Given the description of an element on the screen output the (x, y) to click on. 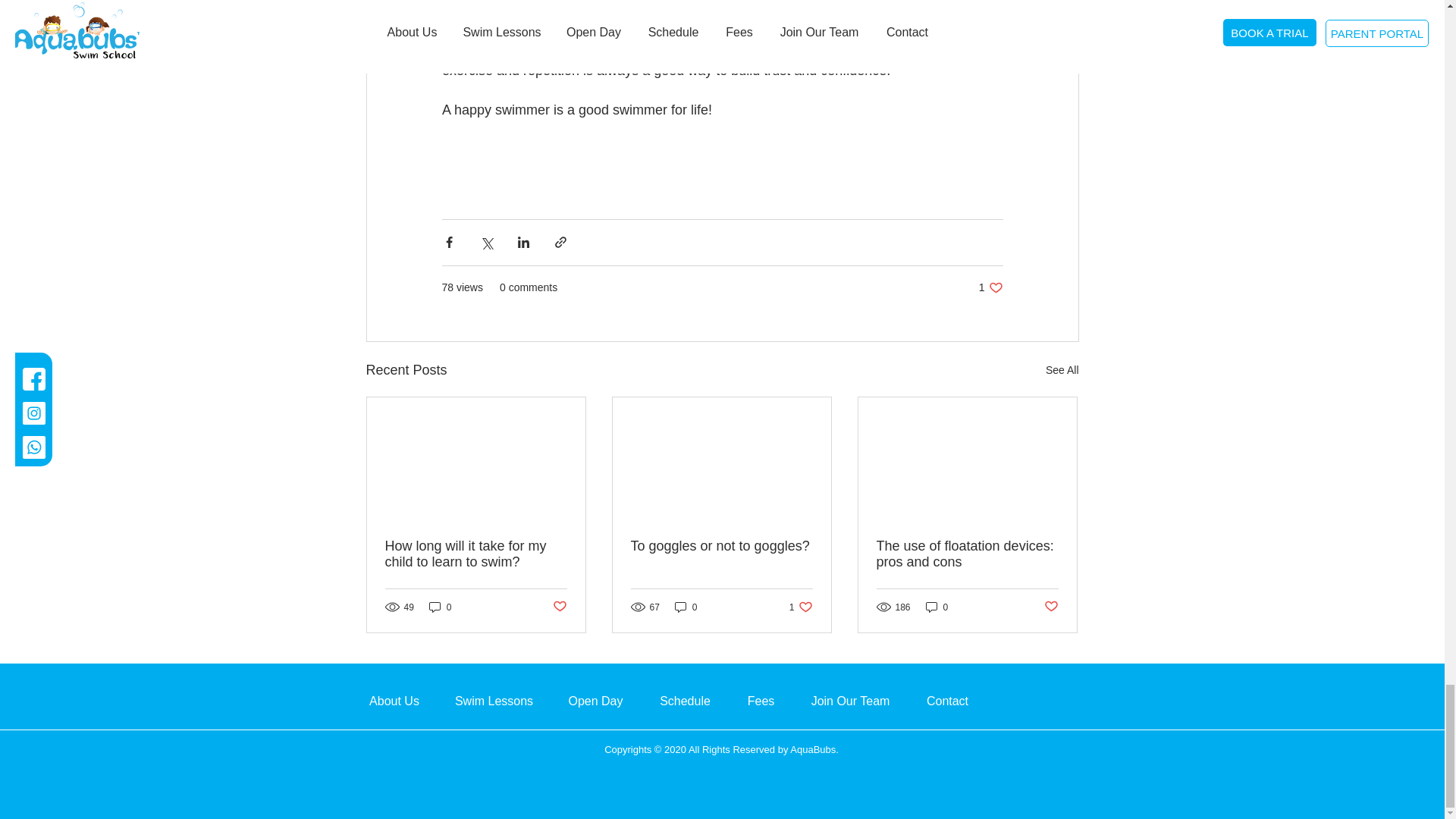
0 (685, 606)
See All (1061, 370)
To goggles or not to goggles? (721, 546)
Post not marked as liked (800, 606)
0 (990, 287)
How long will it take for my child to learn to swim? (558, 606)
